Given the description of an element on the screen output the (x, y) to click on. 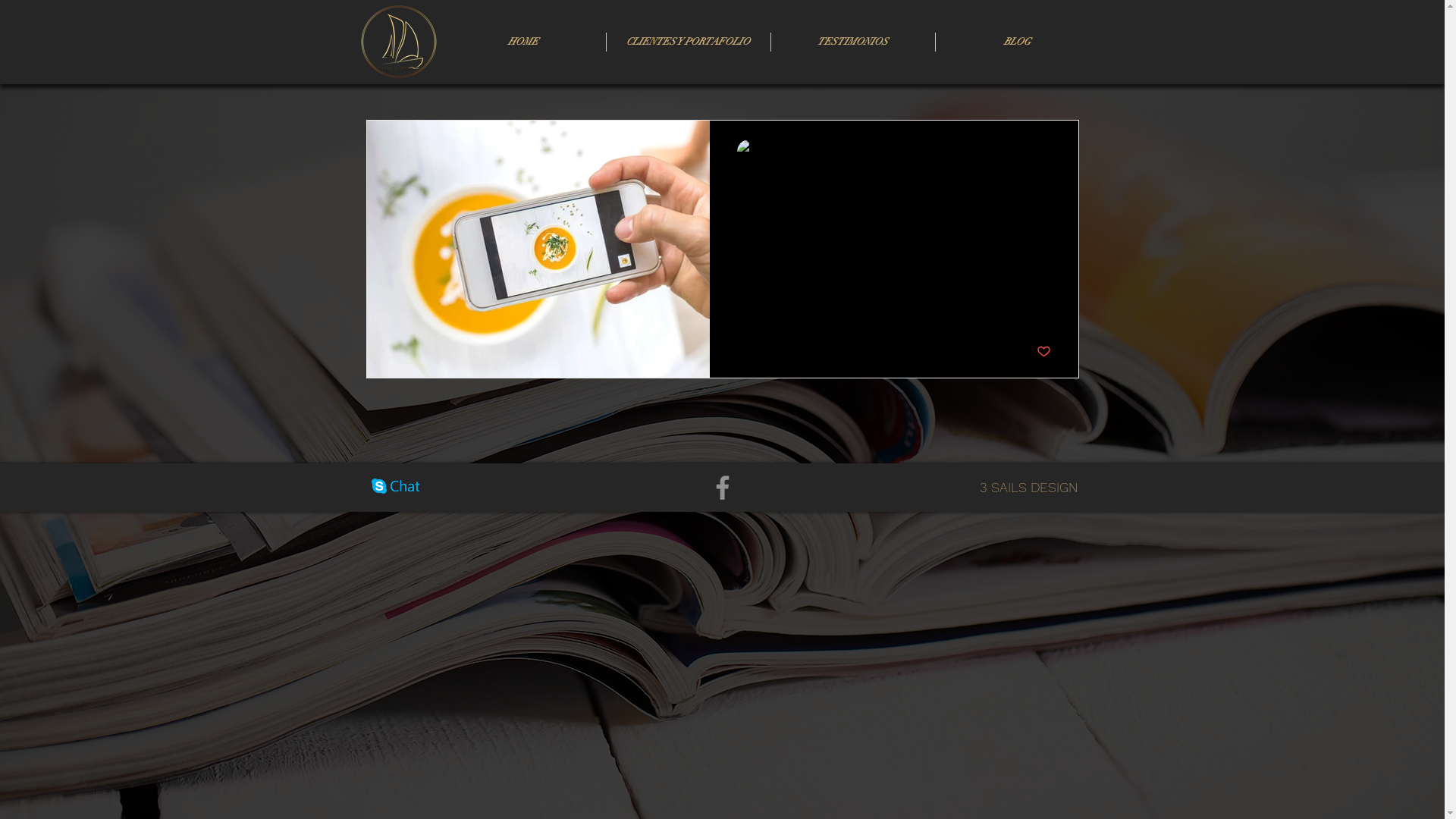
Visitor Analytics Element type: hover (479, 311)
CLIENTES Y PORTAFOLIO Element type: text (688, 41)
BLOG Element type: text (1017, 41)
Entrada no marcada como Me Gusta Element type: text (1042, 352)
Chat via Skype Element type: hover (395, 487)
HOME Element type: text (522, 41)
TESTIMONIOS Element type: text (852, 41)
INSTAGRAM # HASHTAGS Element type: text (894, 193)
